Given the description of an element on the screen output the (x, y) to click on. 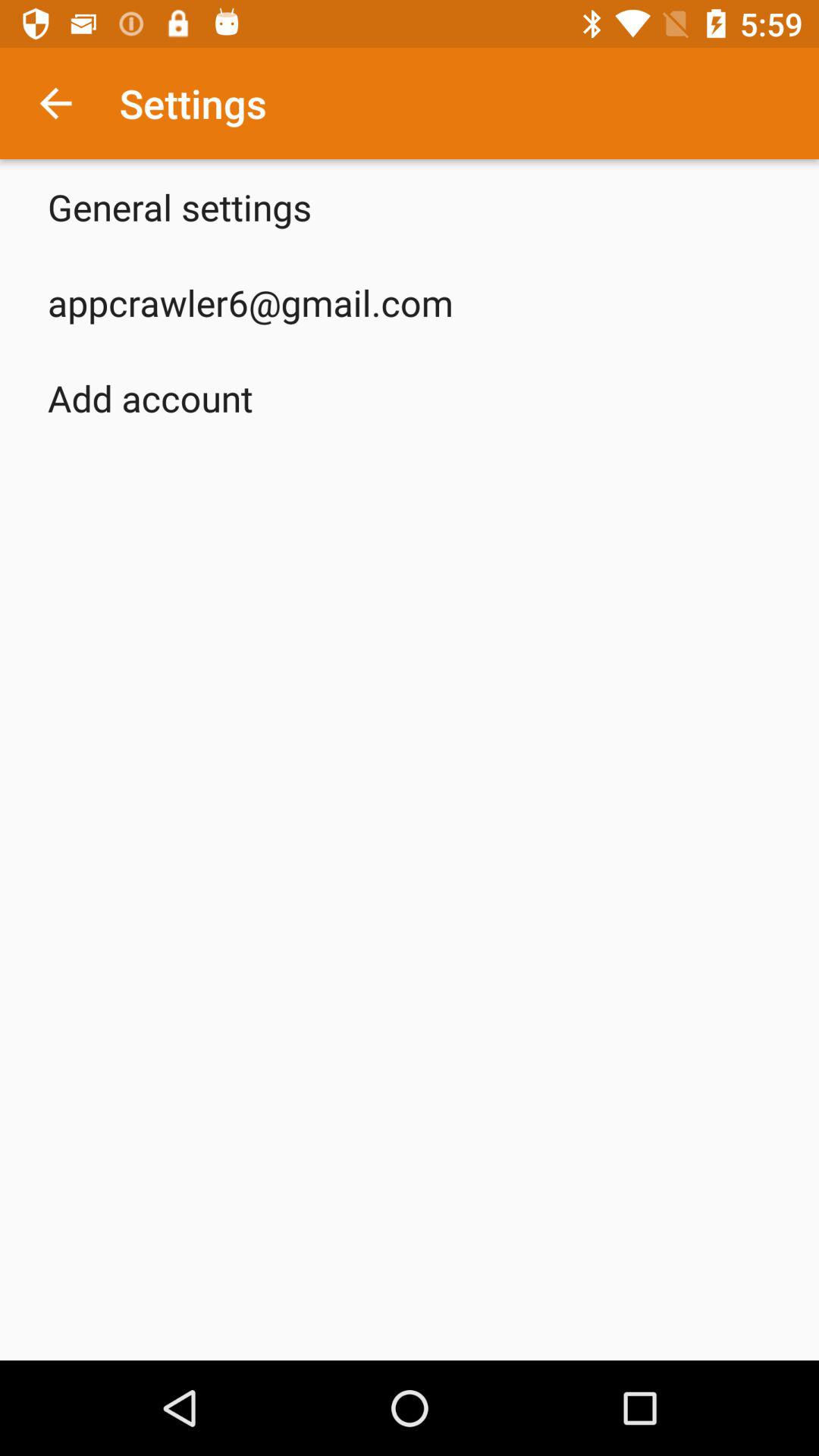
jump until general settings item (179, 206)
